Given the description of an element on the screen output the (x, y) to click on. 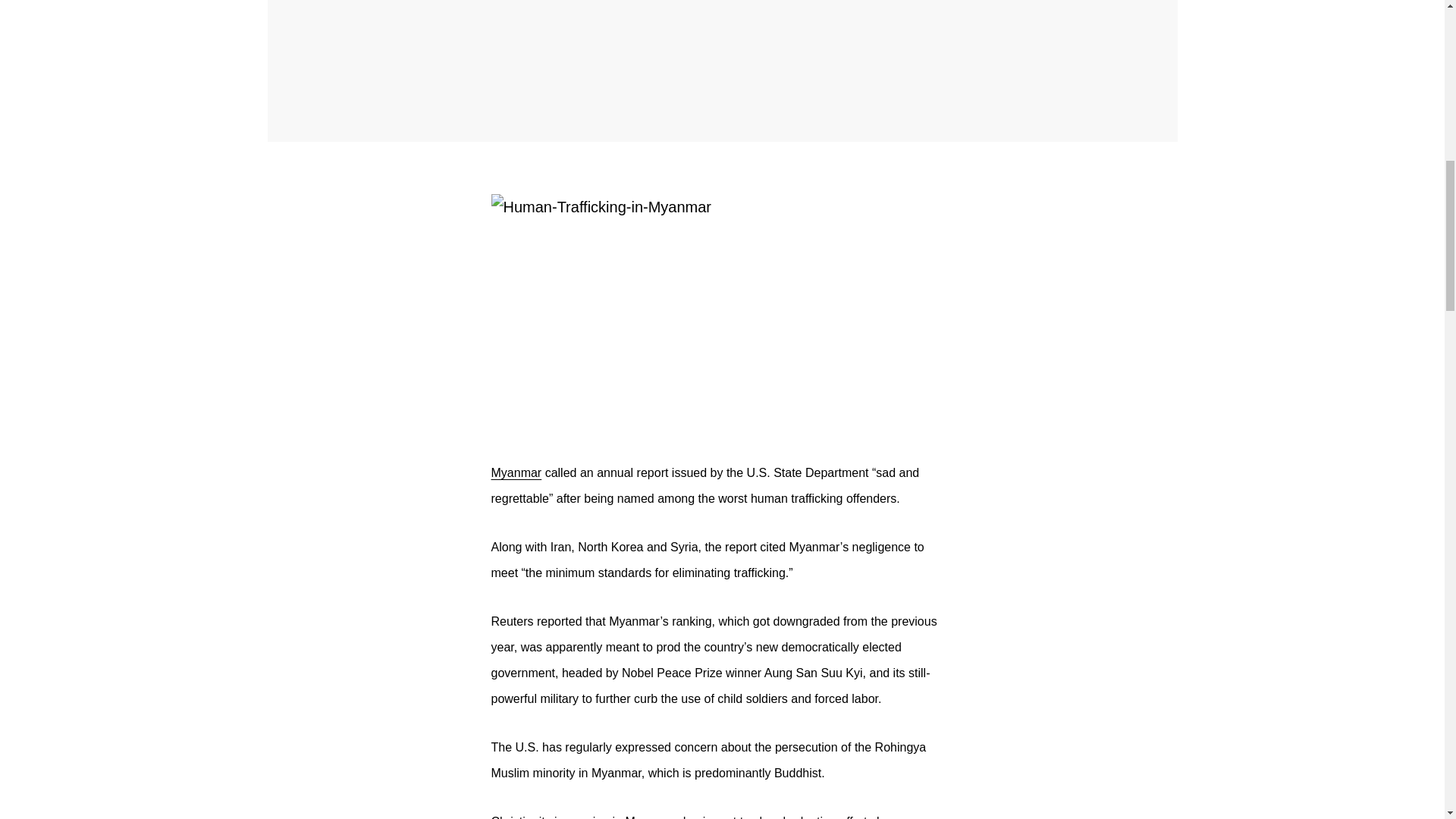
Myanmar (516, 472)
